Given the description of an element on the screen output the (x, y) to click on. 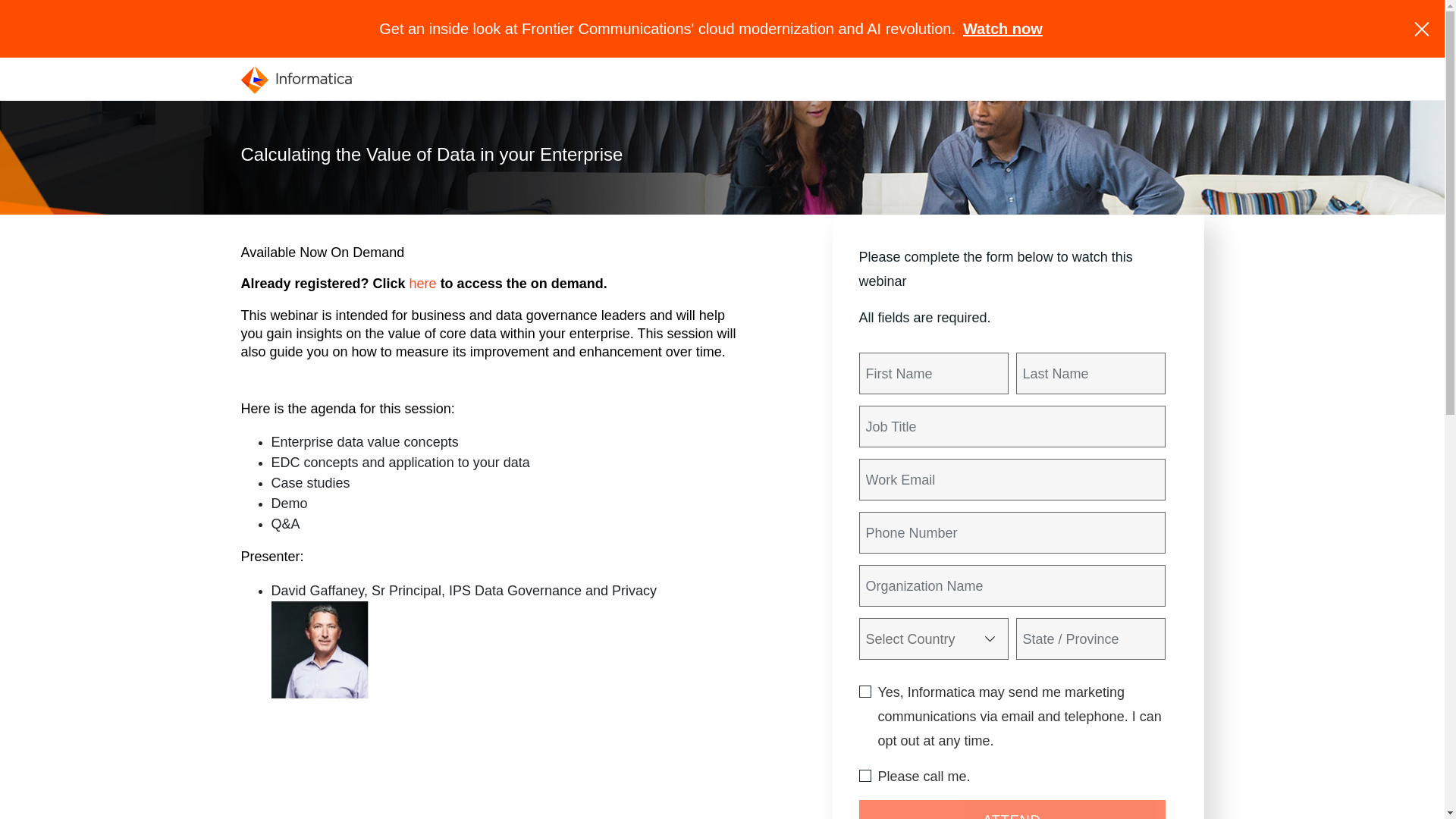
ATTEND (1011, 809)
Watch now (1002, 28)
here (422, 283)
